Given the description of an element on the screen output the (x, y) to click on. 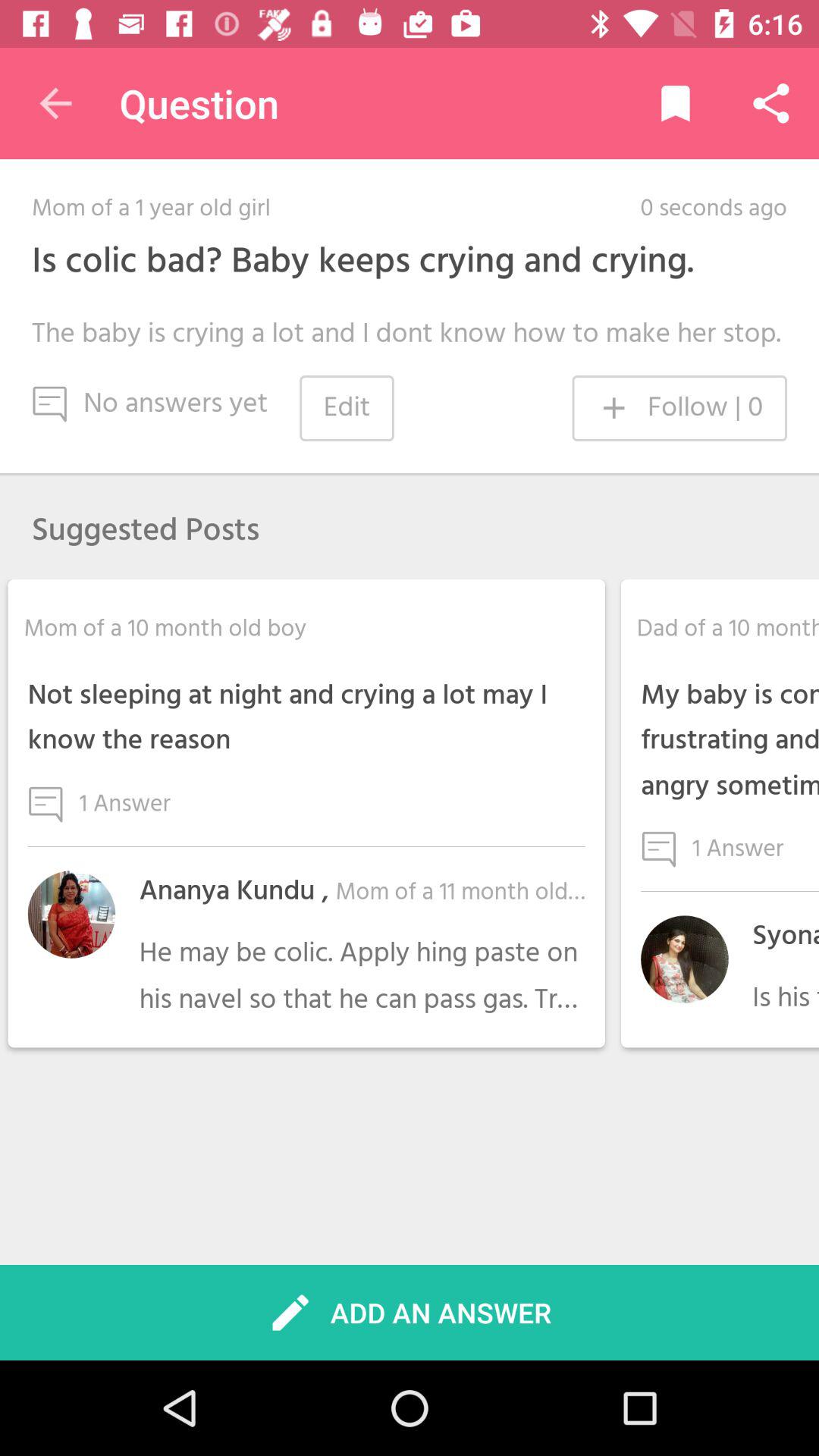
swipe until the follow | 0 (679, 408)
